Given the description of an element on the screen output the (x, y) to click on. 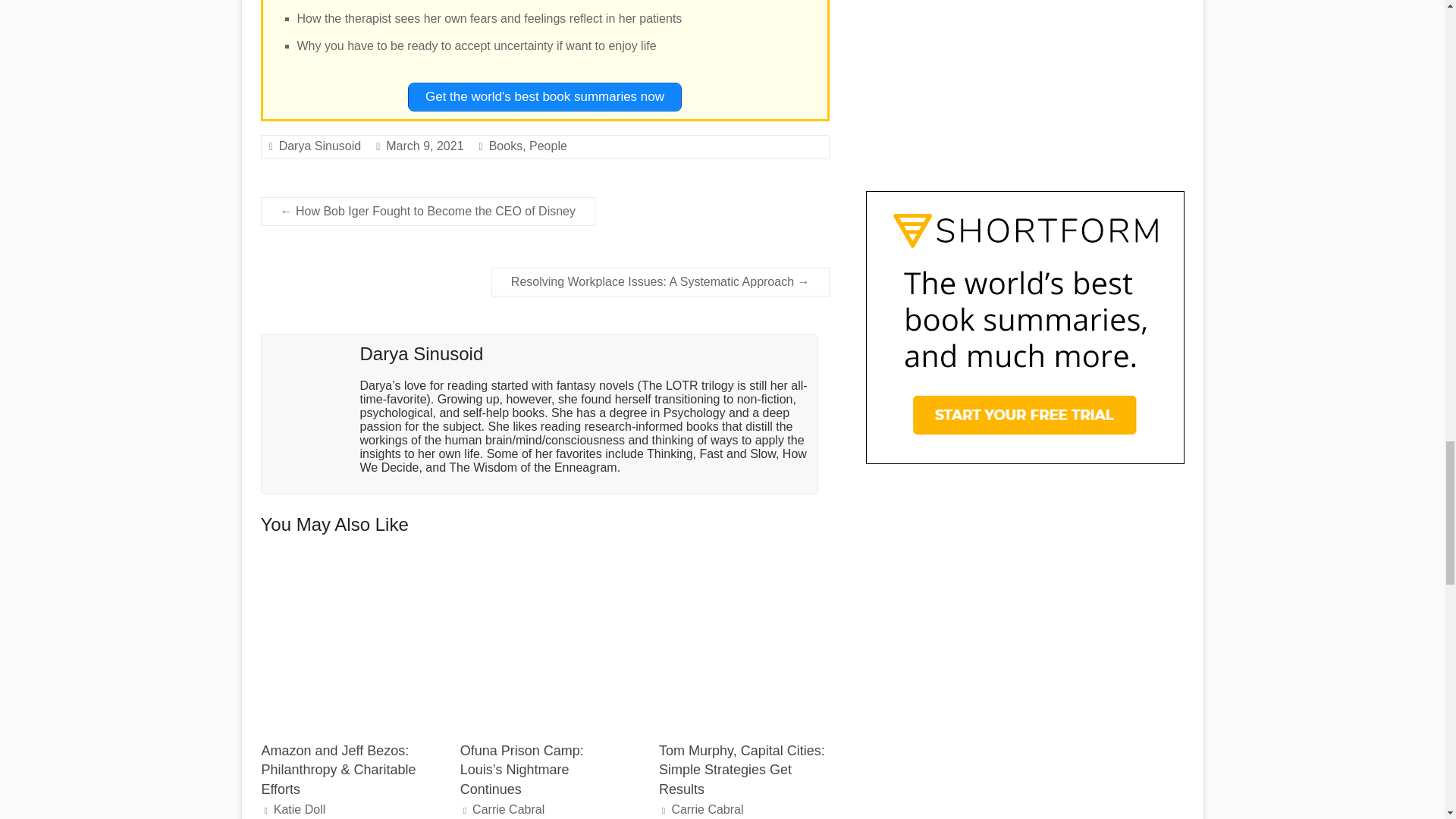
Tom Murphy, Capital Cities: Simple Strategies Get Results (742, 769)
March 9, 2021 (424, 145)
Get the world's best book summaries now (544, 96)
12:03 pm (424, 145)
Darya Sinusoid (320, 145)
Katie Doll (298, 809)
Carrie Cabral (507, 809)
Carrie Cabral (706, 809)
Books (505, 145)
Tom Murphy, Capital Cities: Simple Strategies Get Results (743, 643)
People (548, 145)
Tom Murphy, Capital Cities: Simple Strategies Get Results (742, 769)
Tom Murphy, Capital Cities: Simple Strategies Get Results (743, 565)
